Given the description of an element on the screen output the (x, y) to click on. 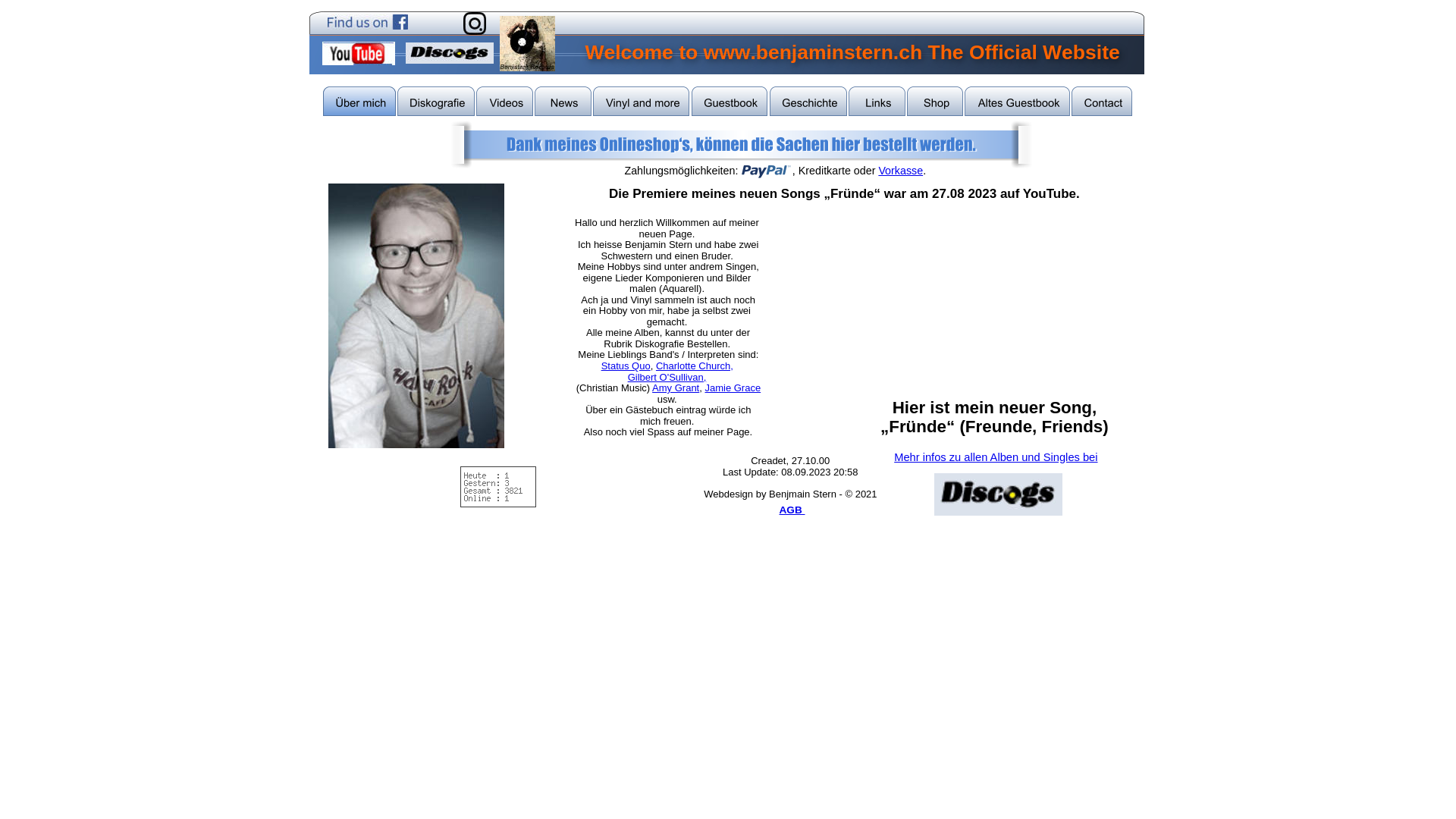
Jamie Grace Element type: text (732, 387)
Gilbert O'Sullivan, Element type: text (666, 376)
Vorkasse Element type: text (900, 170)
YouTube video player Element type: hover (992, 306)
Charlotte Church, Element type: text (694, 365)
My Youtube Site Element type: hover (357, 53)
AGB  Element type: text (792, 509)
Amy Grant Element type: text (675, 387)
Mehr infos zu allen Alben und Singles bei Element type: text (995, 457)
Benjistern Records Element type: hover (526, 43)
Status Quo Element type: text (625, 365)
